Given the description of an element on the screen output the (x, y) to click on. 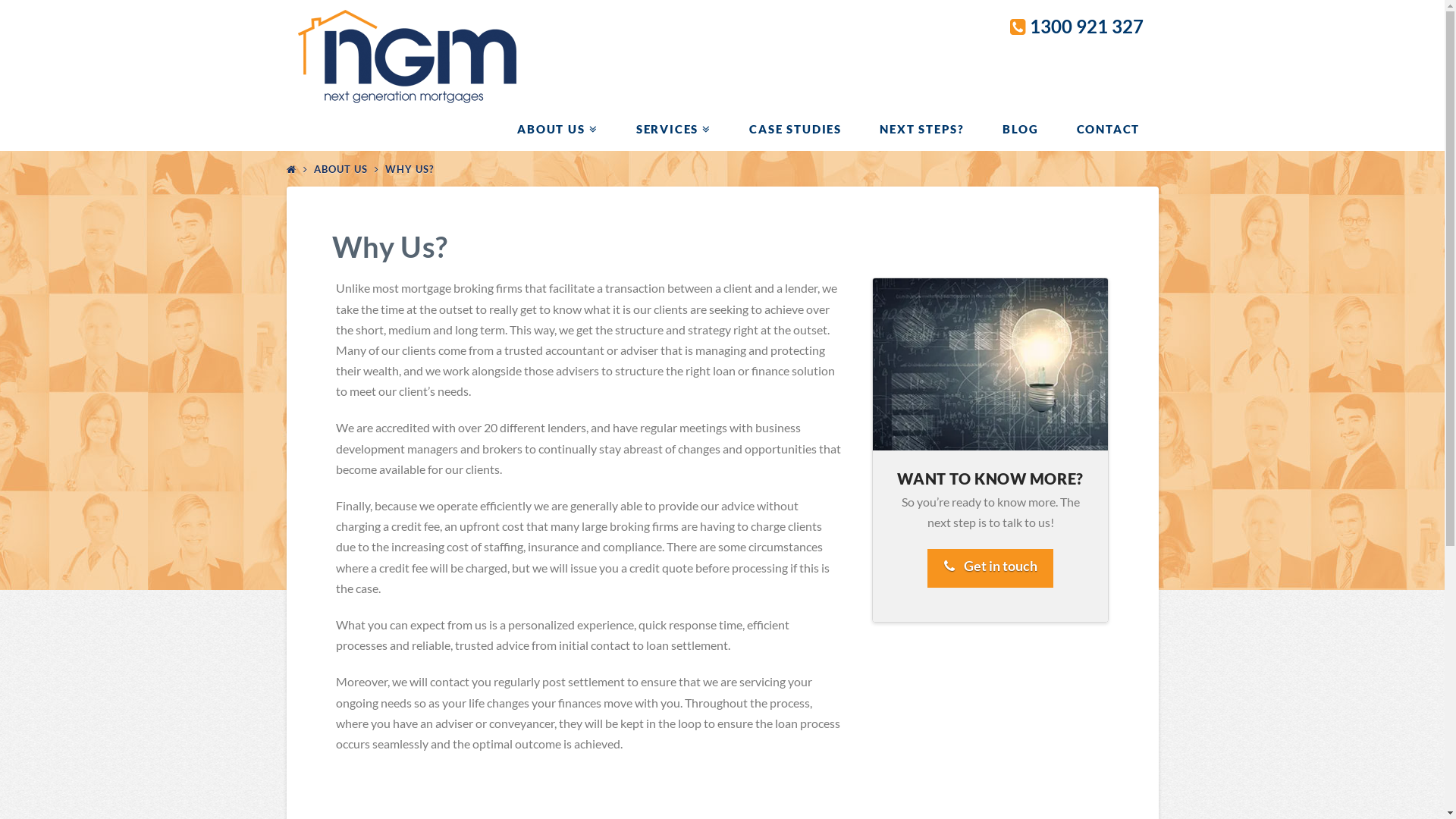
CASE STUDIES Element type: text (794, 129)
ABOUT US Element type: text (340, 169)
SERVICES Element type: text (673, 129)
NEXT STEPS? Element type: text (920, 129)
CONTACT Element type: text (1107, 129)
Get in touch Element type: text (990, 568)
ABOUT US Element type: text (556, 129)
BLOG Element type: text (1019, 129)
